Given the description of an element on the screen output the (x, y) to click on. 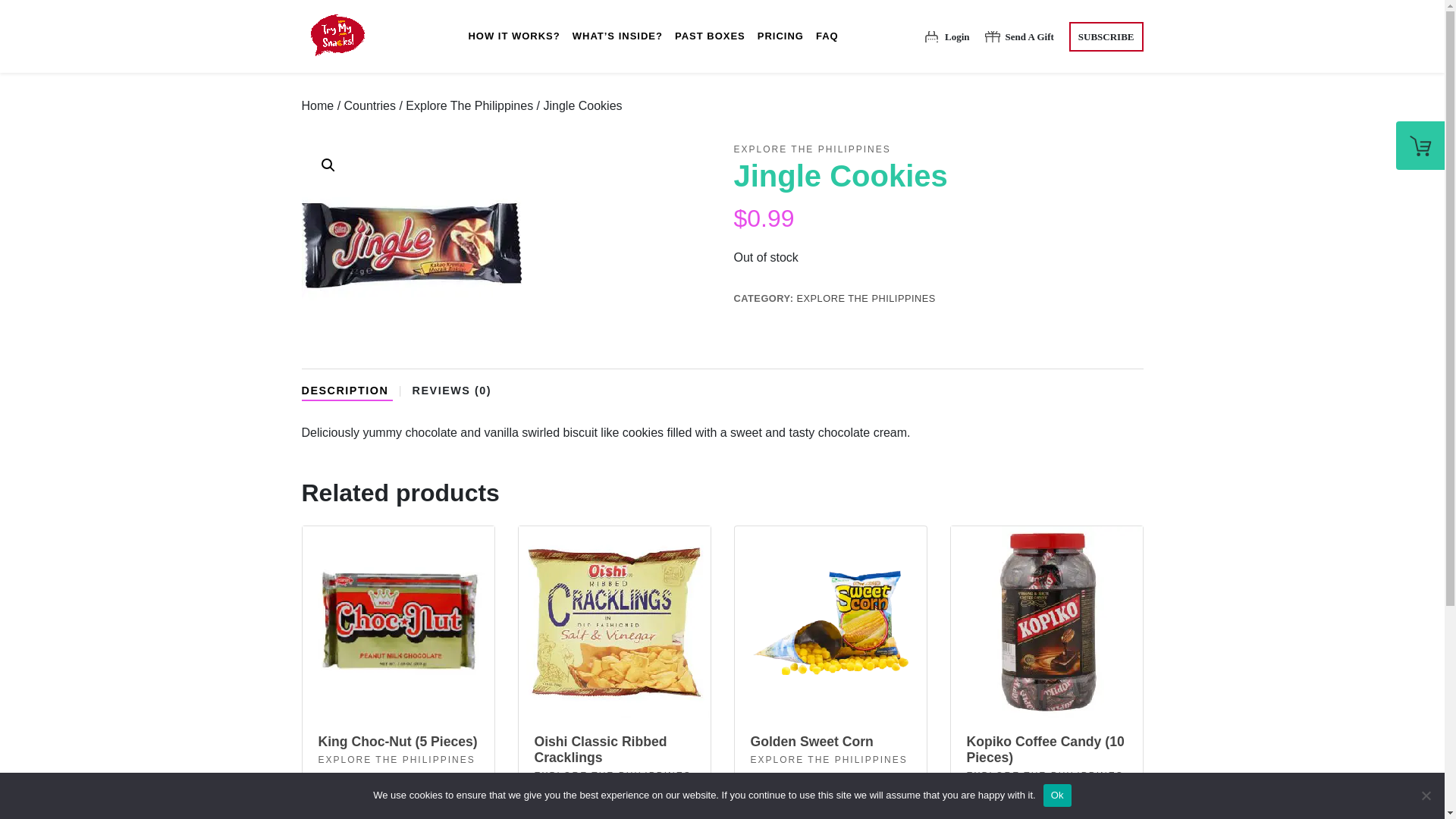
EXPLORE THE PHILIPPINES (829, 759)
HOW IT WORKS? (513, 35)
EXPLORE THE PHILIPPINES (812, 149)
EXPLORE THE PHILIPPINES (865, 297)
Explore The Philippines (469, 105)
Read more (780, 805)
Golden Sweet Corn (831, 748)
SUBSCRIBE (1105, 36)
Read more (348, 805)
TryMySnacks (336, 35)
FAQ (826, 35)
EXPLORE THE PHILIPPINES (397, 759)
Home (317, 105)
Past Boxes (709, 35)
				scroll		 (513, 35)
